Given the description of an element on the screen output the (x, y) to click on. 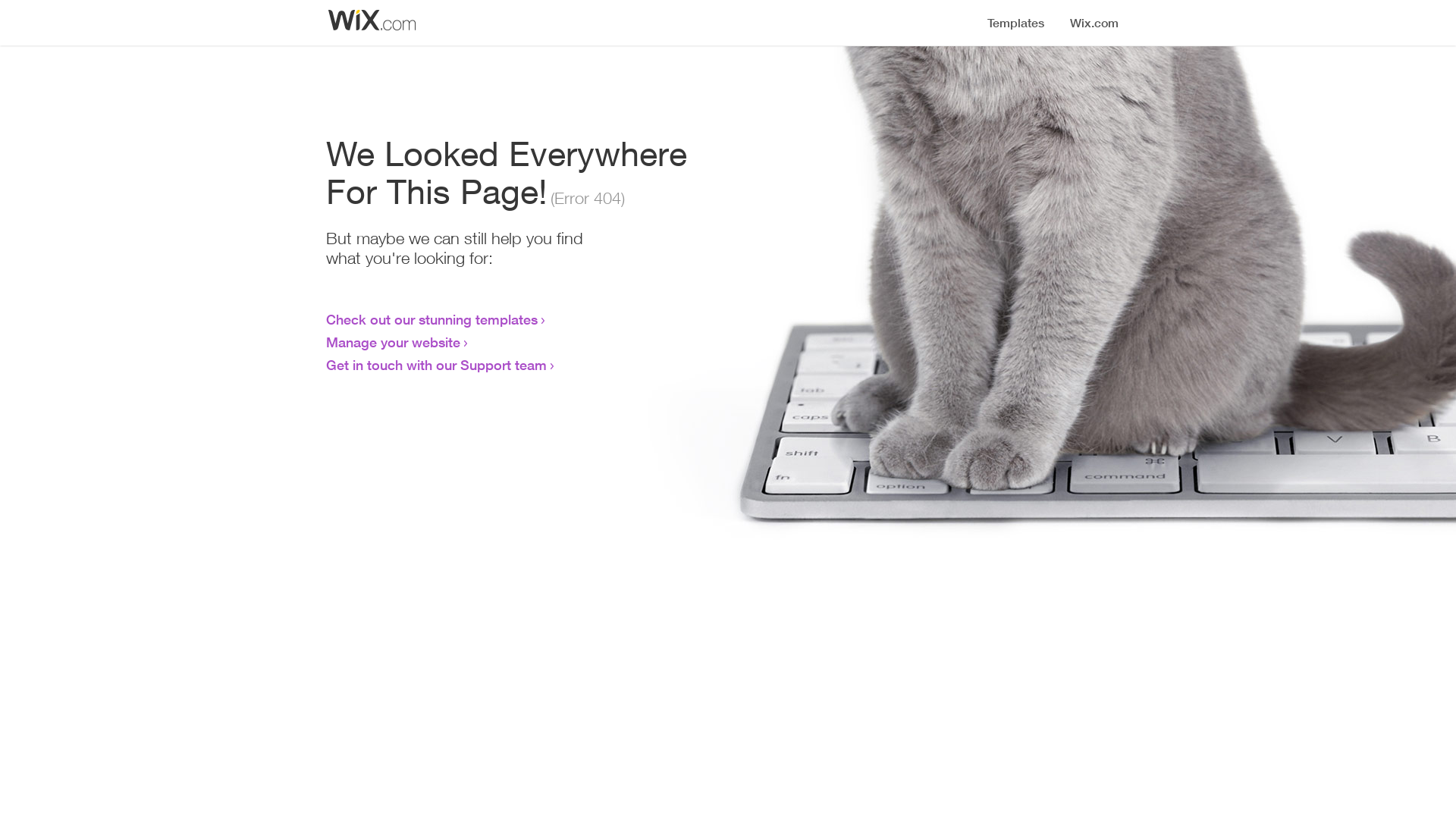
Manage your website Element type: text (393, 341)
Get in touch with our Support team Element type: text (436, 364)
Check out our stunning templates Element type: text (431, 318)
